Given the description of an element on the screen output the (x, y) to click on. 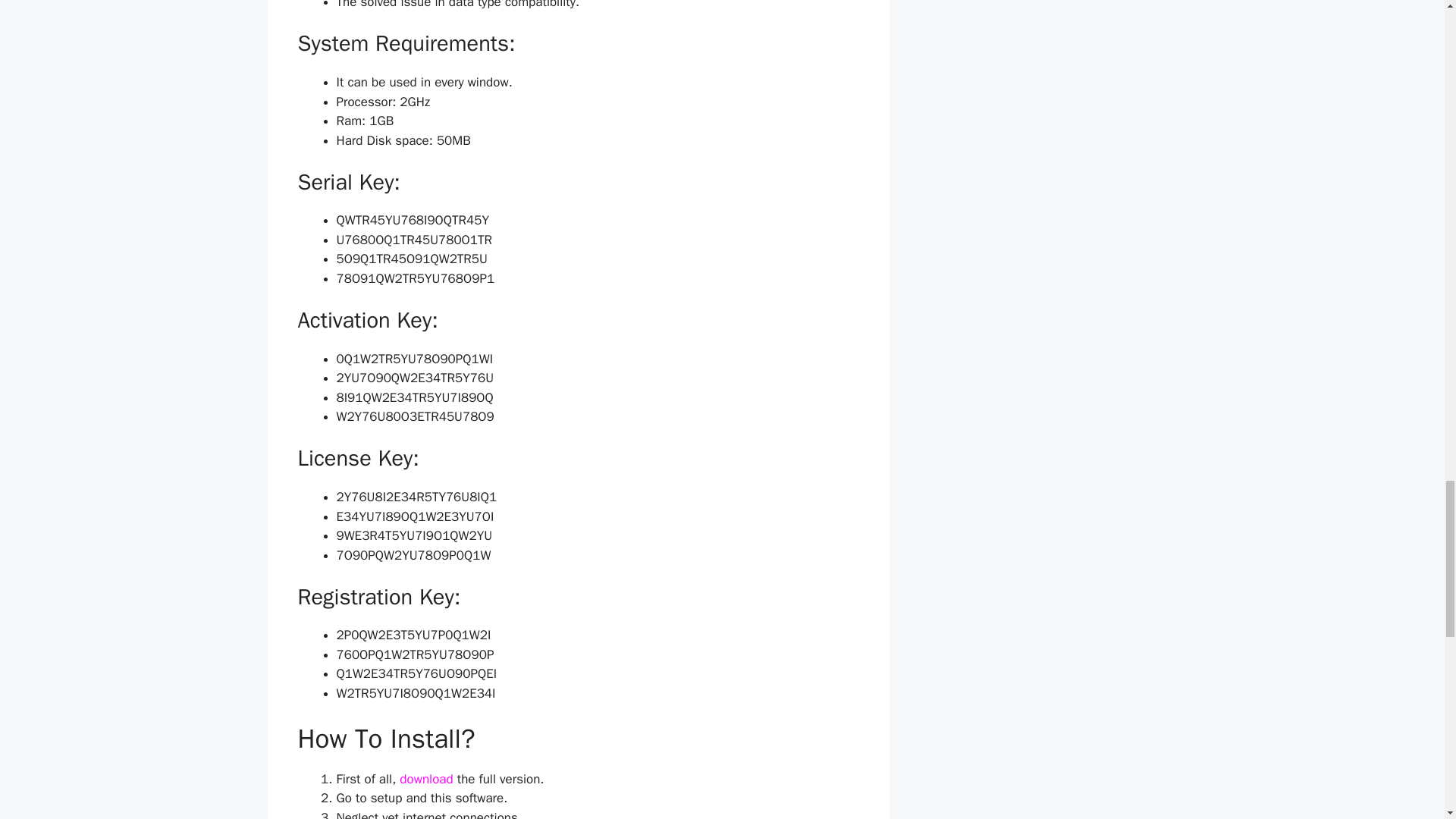
download (425, 779)
